Given the description of an element on the screen output the (x, y) to click on. 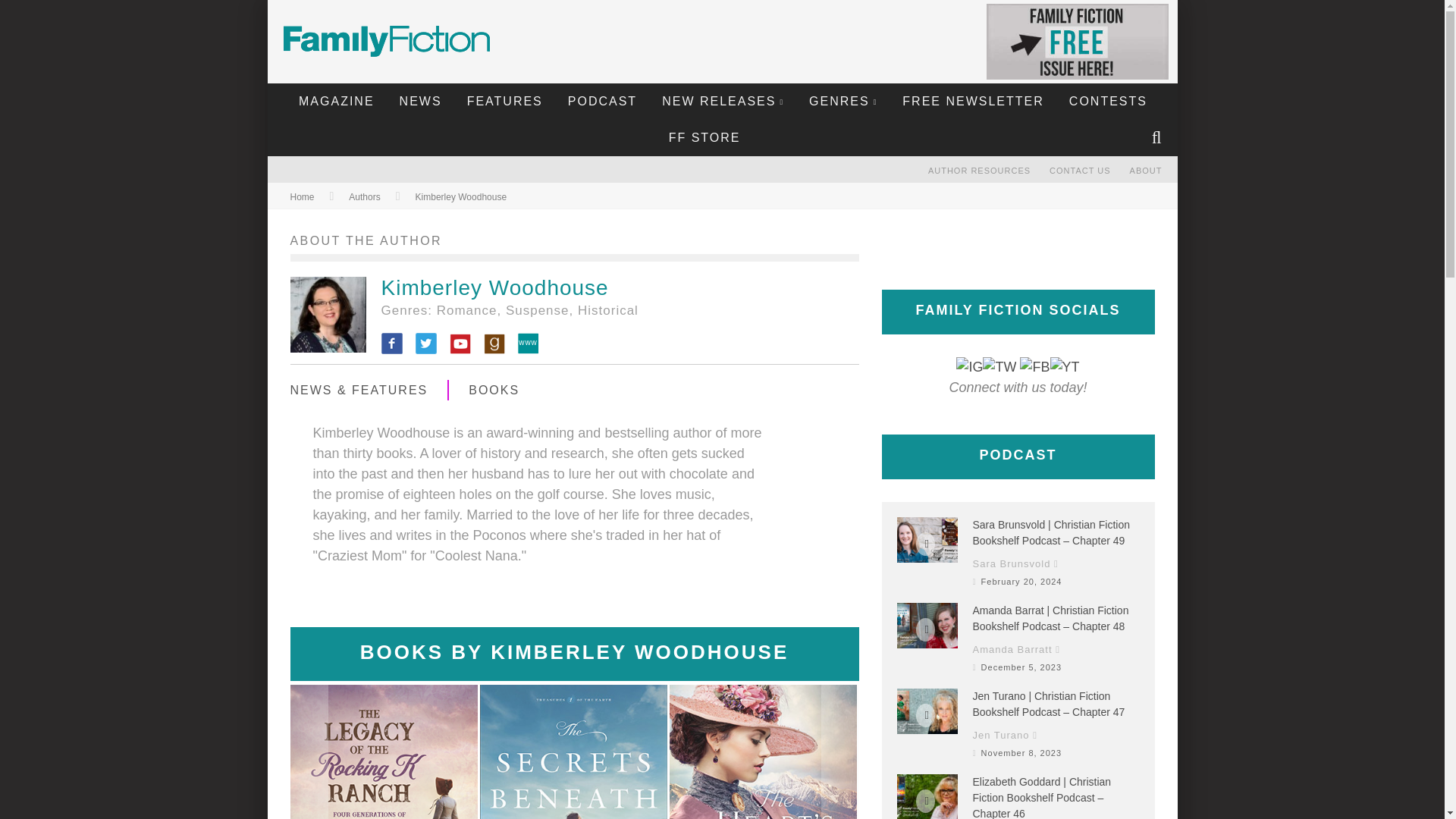
MAGAZINE (335, 101)
FEATURES (504, 101)
Search (1158, 137)
Authors (364, 196)
NEWS (420, 101)
